Given the description of an element on the screen output the (x, y) to click on. 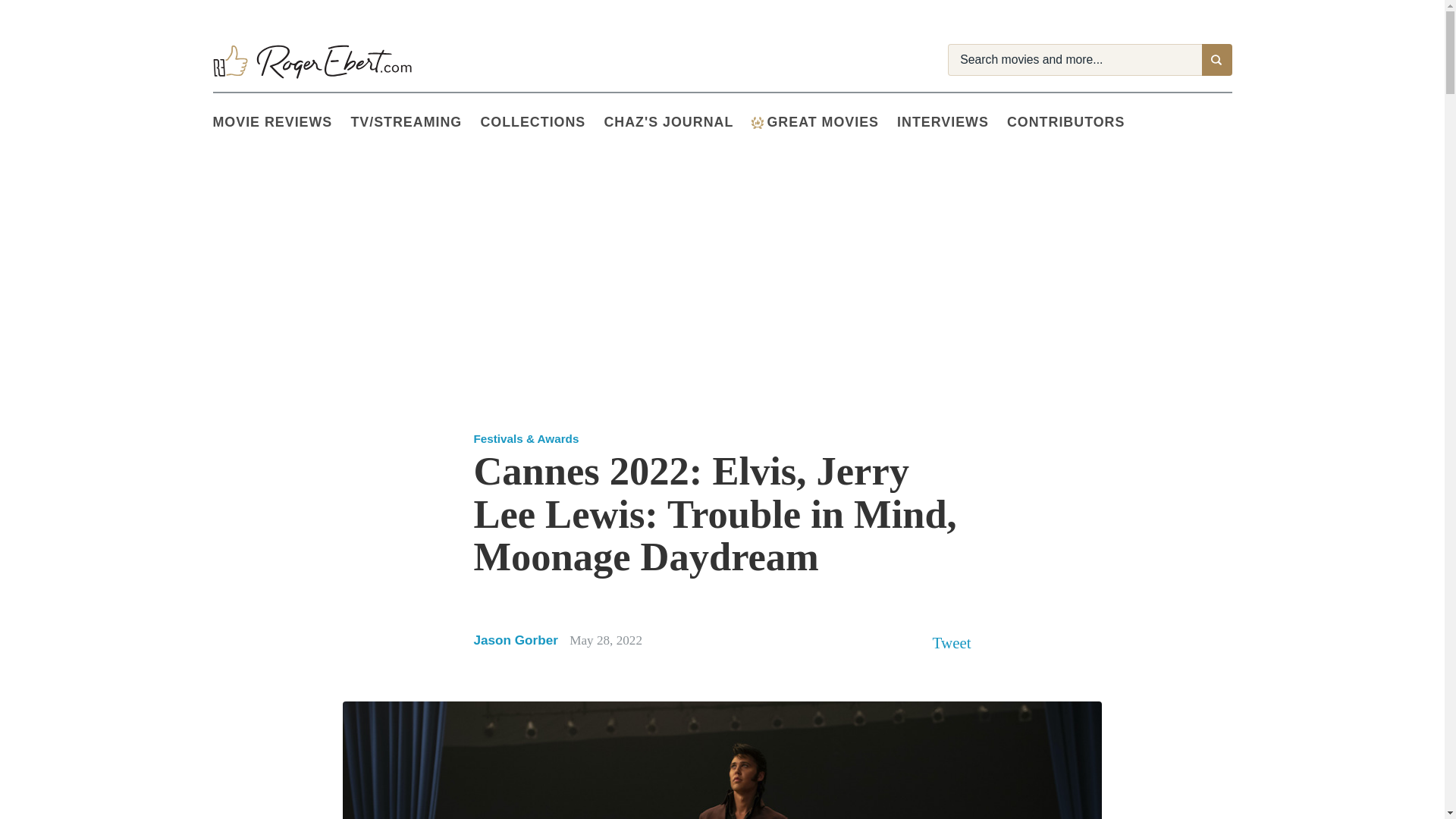
MOVIE REVIEWS (281, 122)
Movie Reviews (281, 122)
CHAZ'S JOURNAL (677, 122)
GREAT MOVIES (823, 122)
Great Movies (756, 122)
CONTRIBUTORS (1074, 122)
Jason Gorber (515, 639)
INTERVIEWS (951, 122)
COLLECTIONS (542, 122)
Chaz's Journal (677, 122)
